Given the description of an element on the screen output the (x, y) to click on. 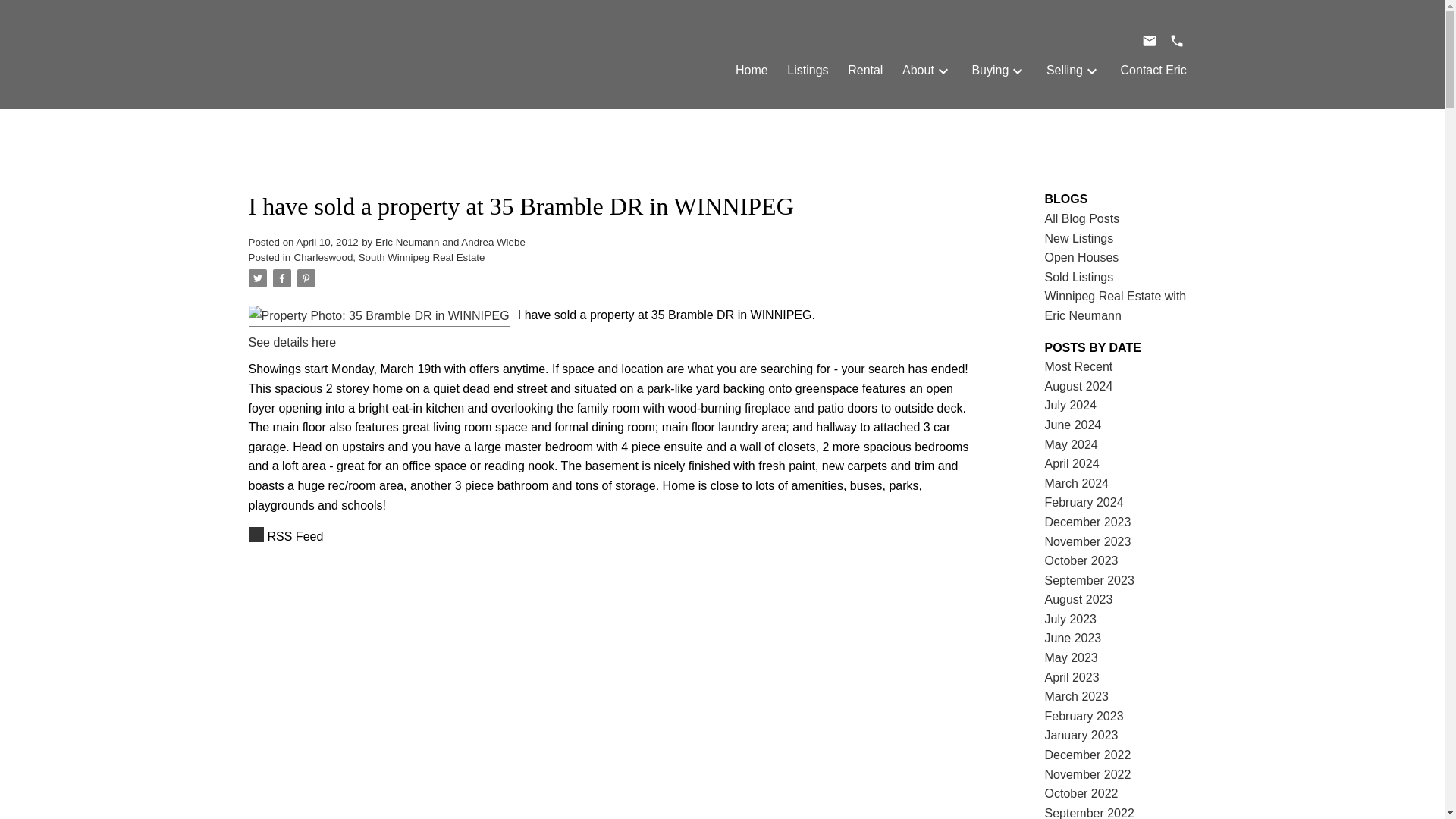
About (918, 70)
Buying (990, 70)
Charleswood, South Winnipeg Real Estate (389, 256)
All Blog Posts (1082, 218)
New Listings (1079, 237)
Selling (1064, 70)
Contact Eric (1153, 70)
Listings (807, 70)
Home (751, 70)
See details here (292, 341)
